Given the description of an element on the screen output the (x, y) to click on. 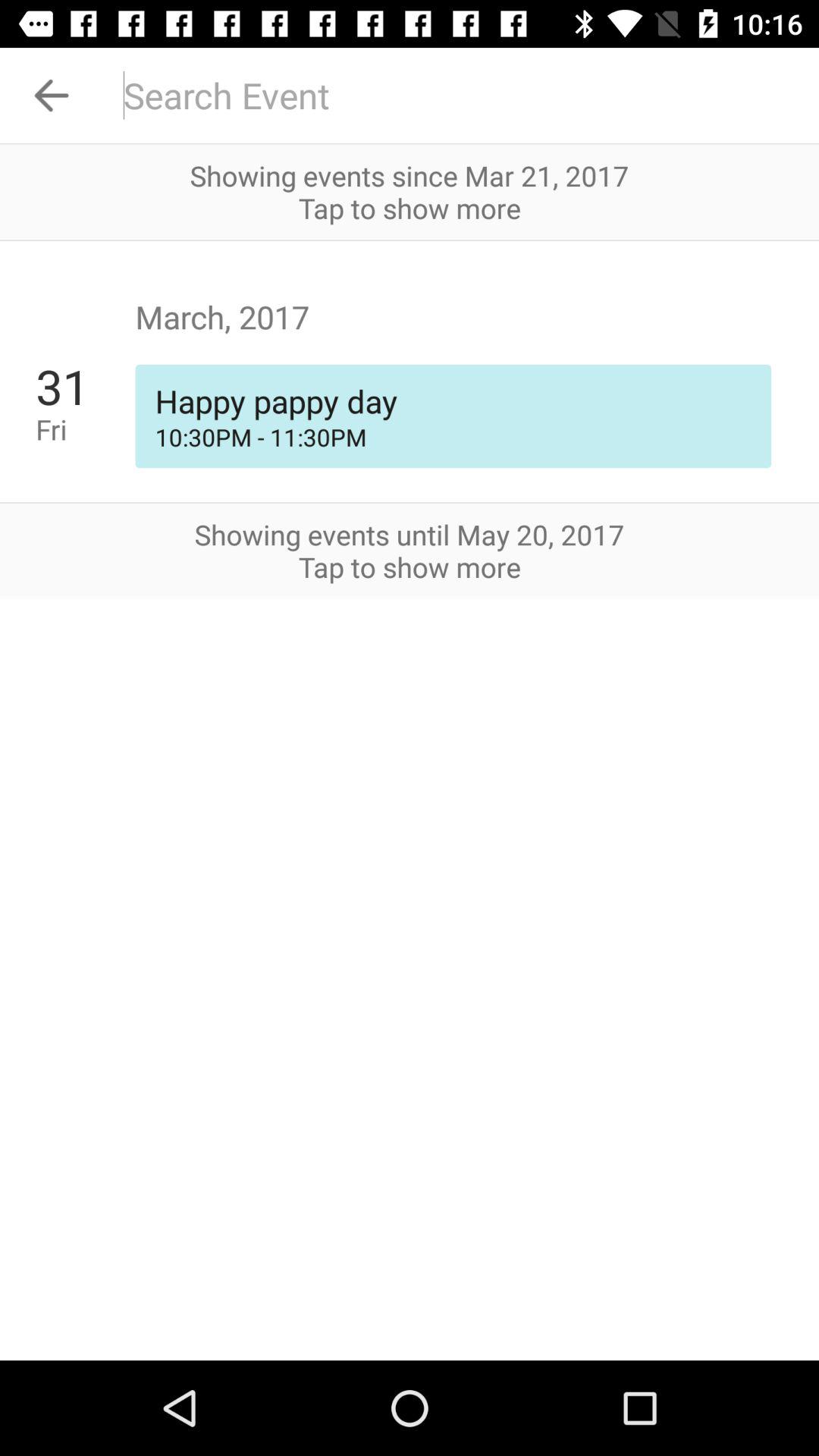
swipe to the happy pappy day (453, 400)
